Given the description of an element on the screen output the (x, y) to click on. 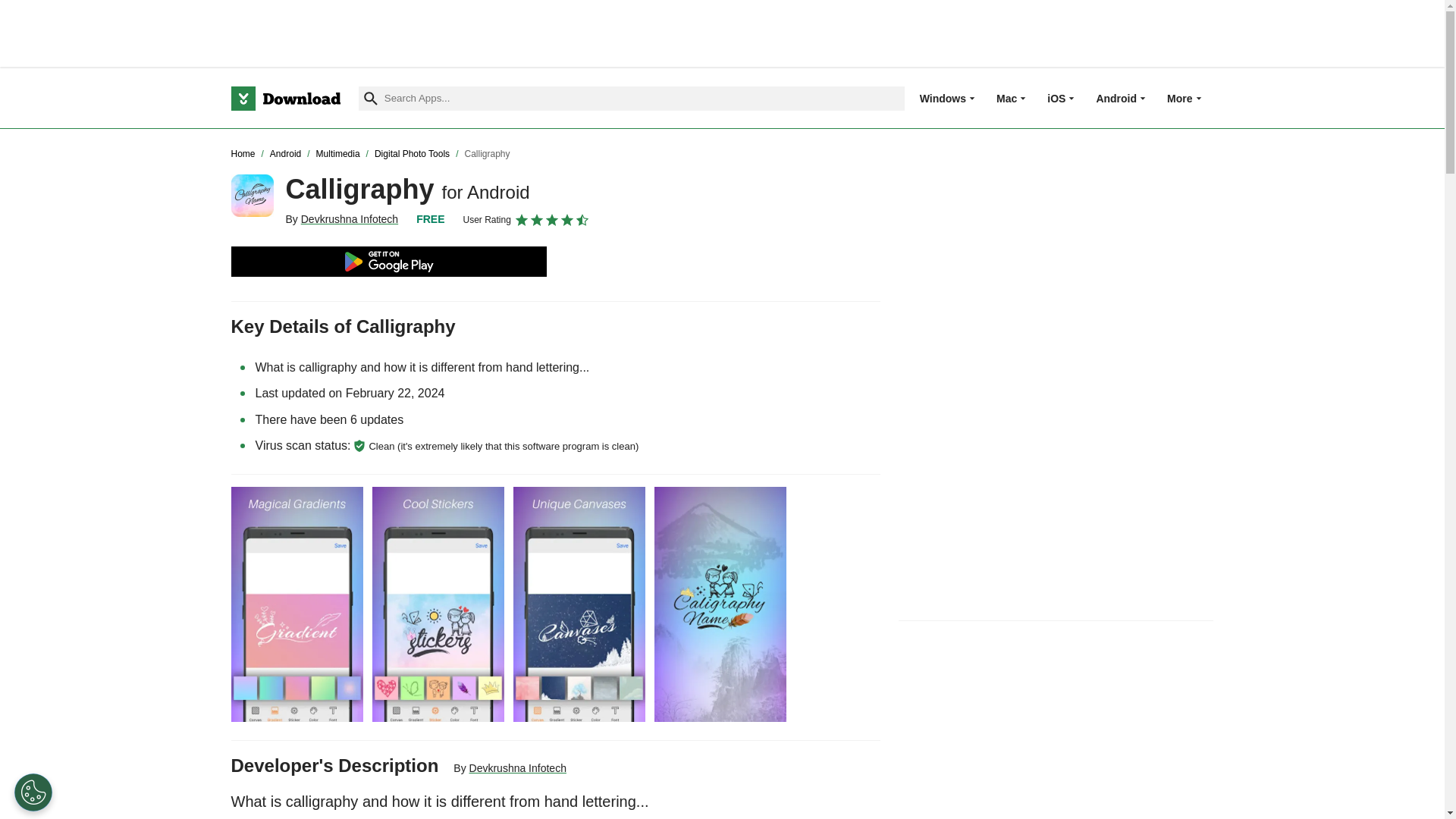
Mac (1005, 97)
Windows (943, 97)
Get it on Google Play (388, 261)
